Given the description of an element on the screen output the (x, y) to click on. 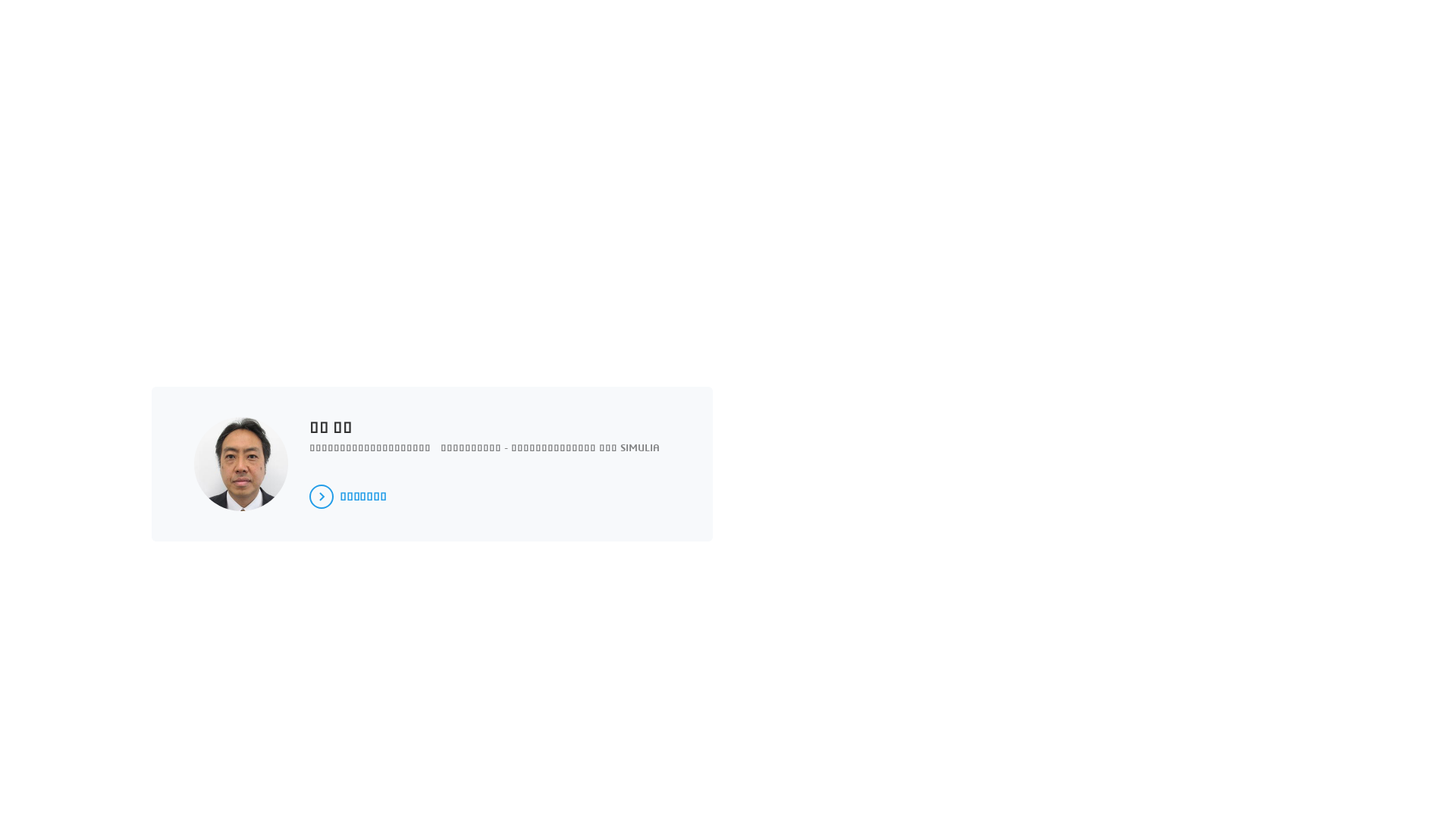
Skip to main content Element type: text (0, 0)
